Given the description of an element on the screen output the (x, y) to click on. 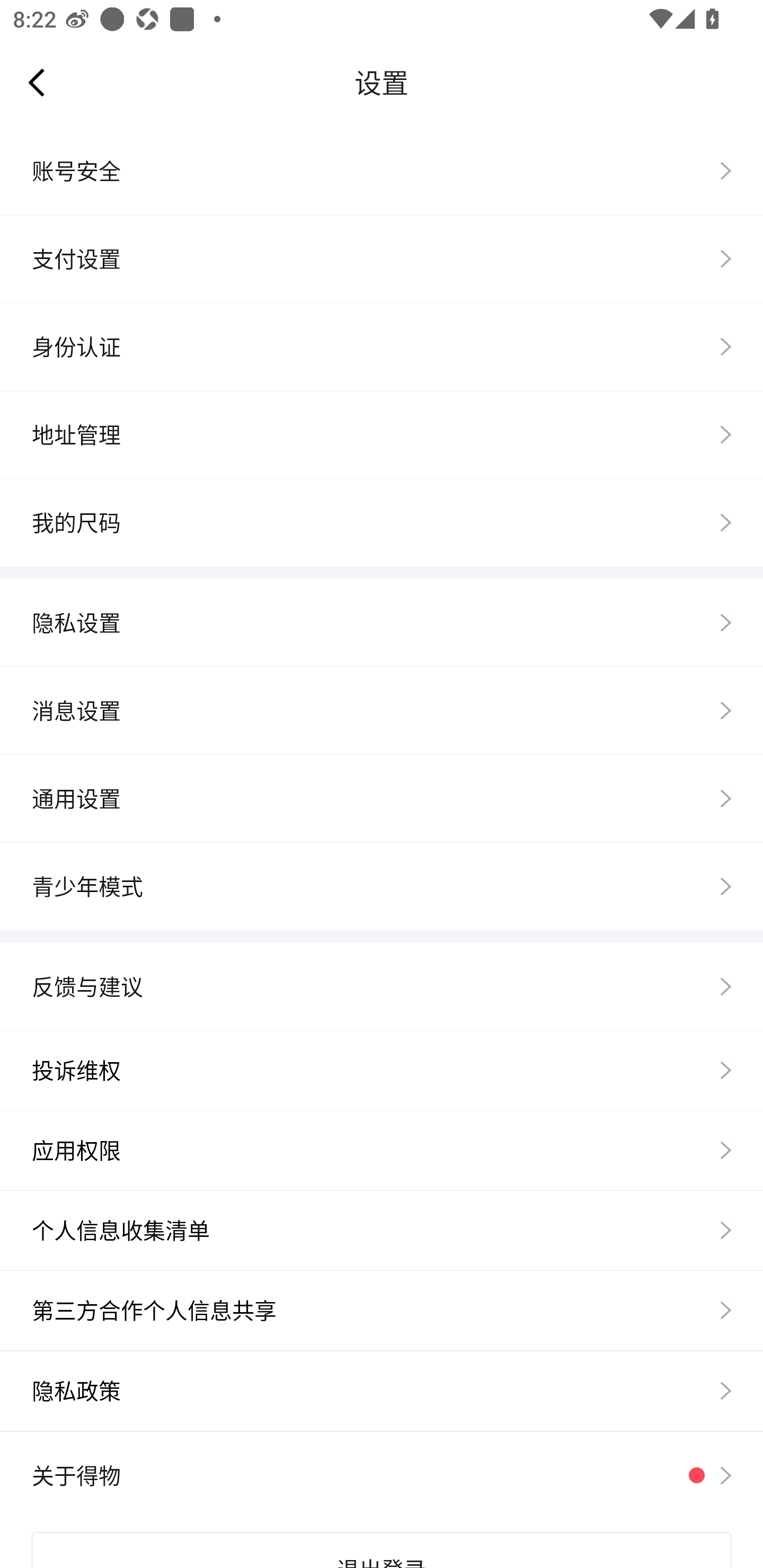
Navigate up (36, 82)
账号安全 (381, 170)
支付设置 (381, 258)
身份认证 (381, 346)
地址管理 (381, 434)
我的尺码 (381, 522)
隐私设置 (381, 622)
消息设置 (381, 710)
通用设置 (381, 798)
青少年模式 (381, 886)
反馈与建议 (381, 986)
投诉维权 (381, 1070)
应用权限 (381, 1150)
个人信息收集清单 (381, 1230)
第三方合作个人信息共享 (381, 1310)
隐私政策 (381, 1390)
关于得物 (381, 1475)
